Given the description of an element on the screen output the (x, y) to click on. 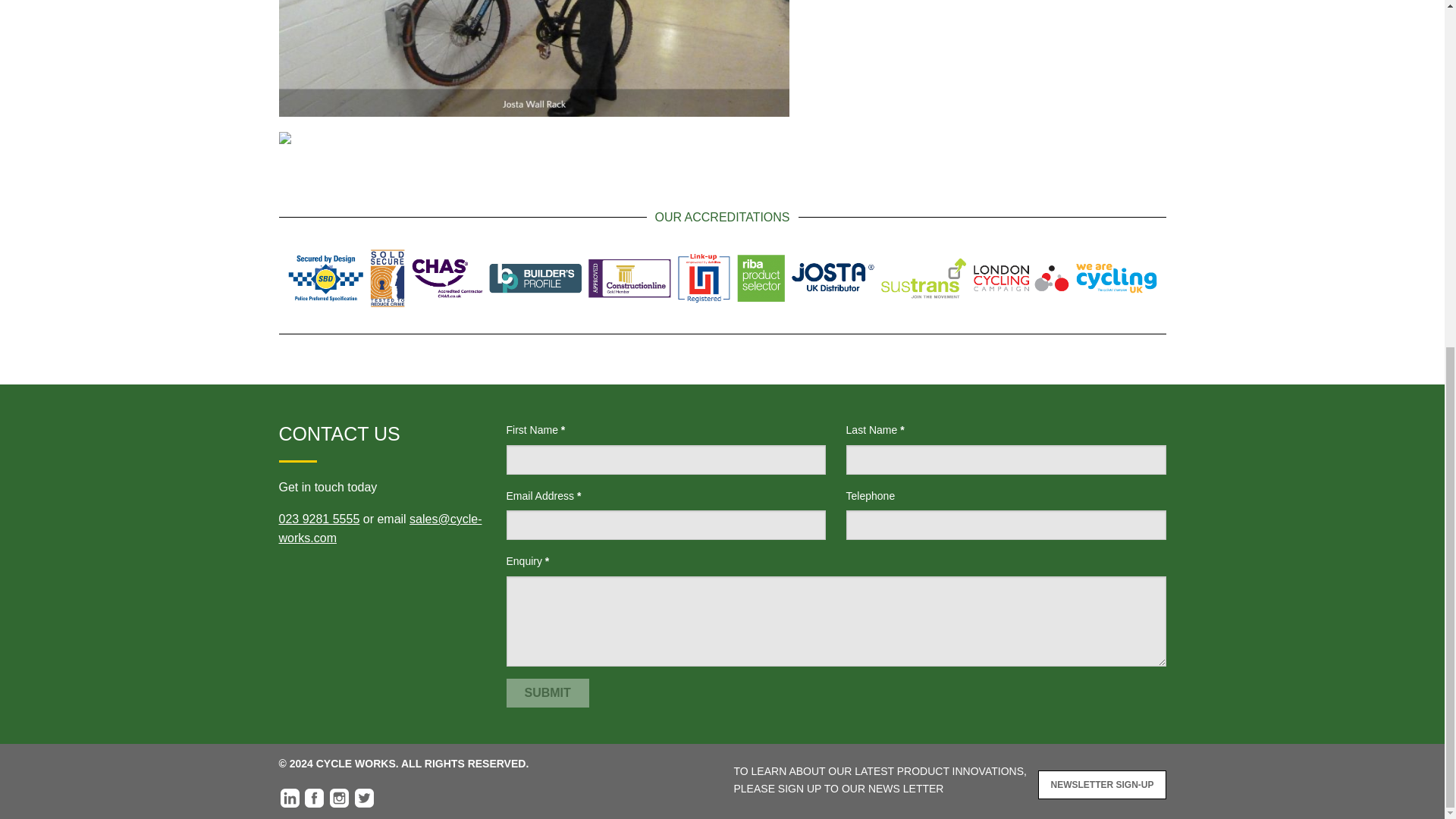
Submit (547, 693)
